Given the description of an element on the screen output the (x, y) to click on. 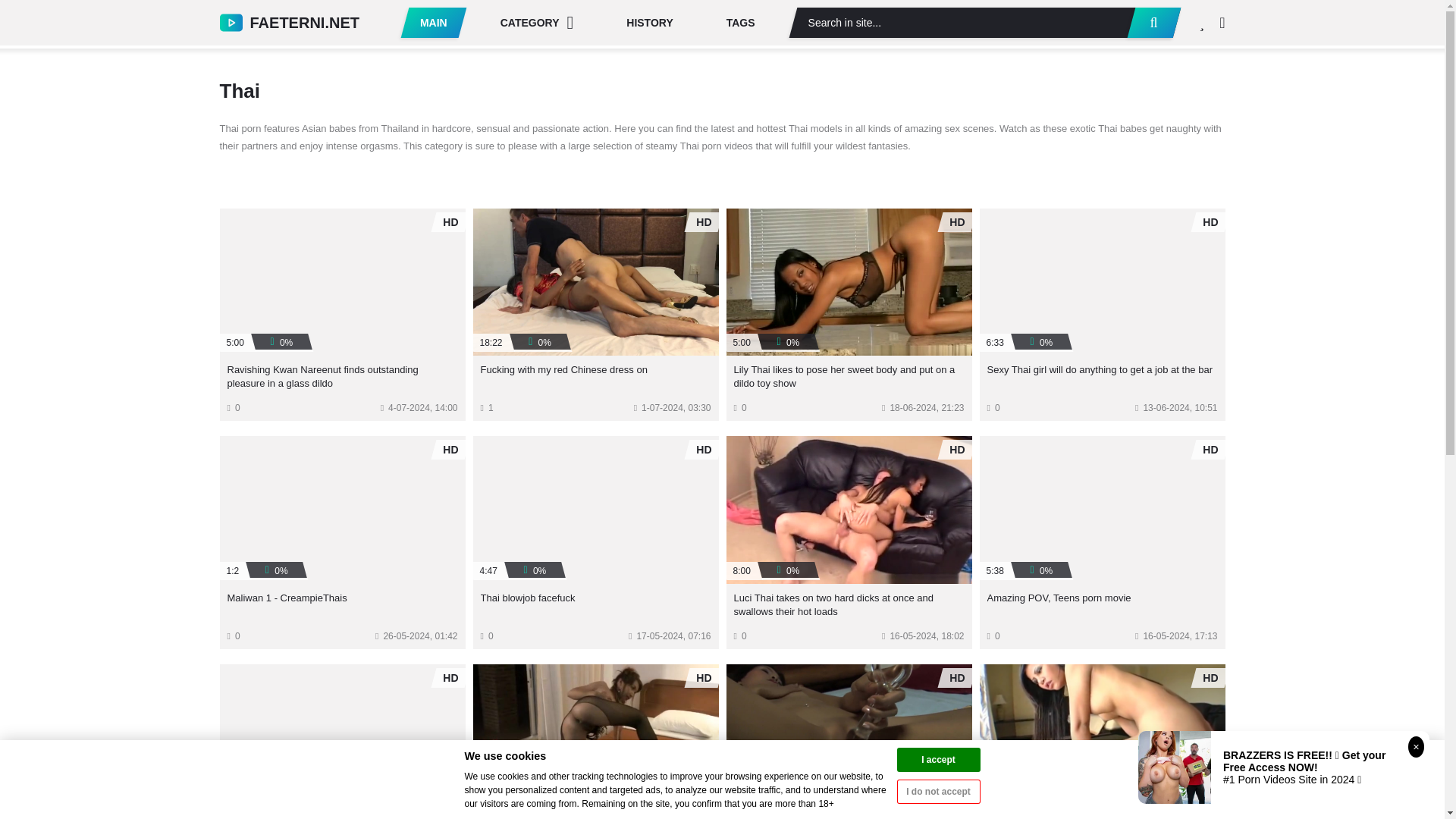
FAETERNI.NET (289, 22)
CATEGORY (536, 22)
MAIN (433, 22)
